Given the description of an element on the screen output the (x, y) to click on. 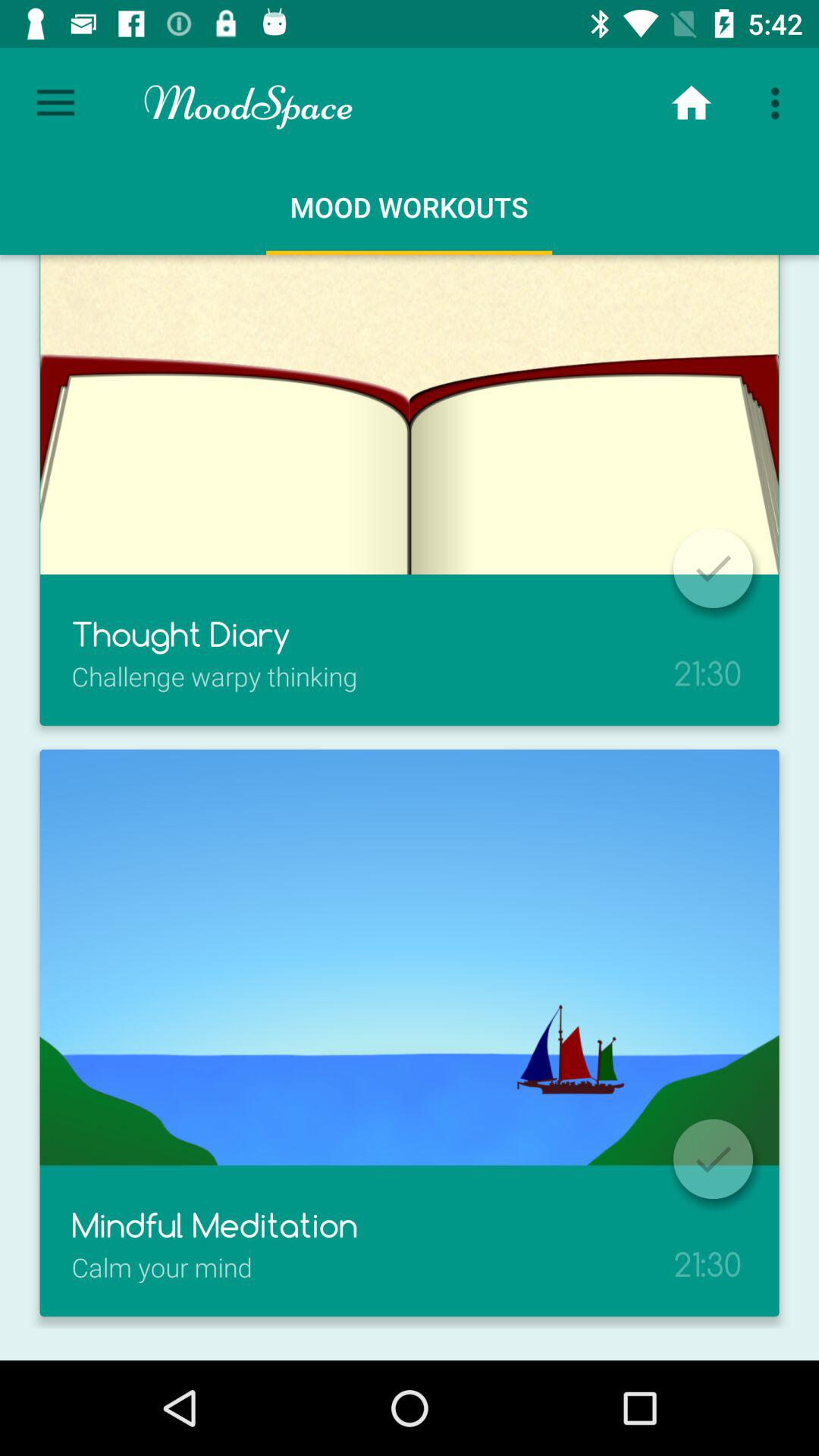
enter option (713, 1159)
